Given the description of an element on the screen output the (x, y) to click on. 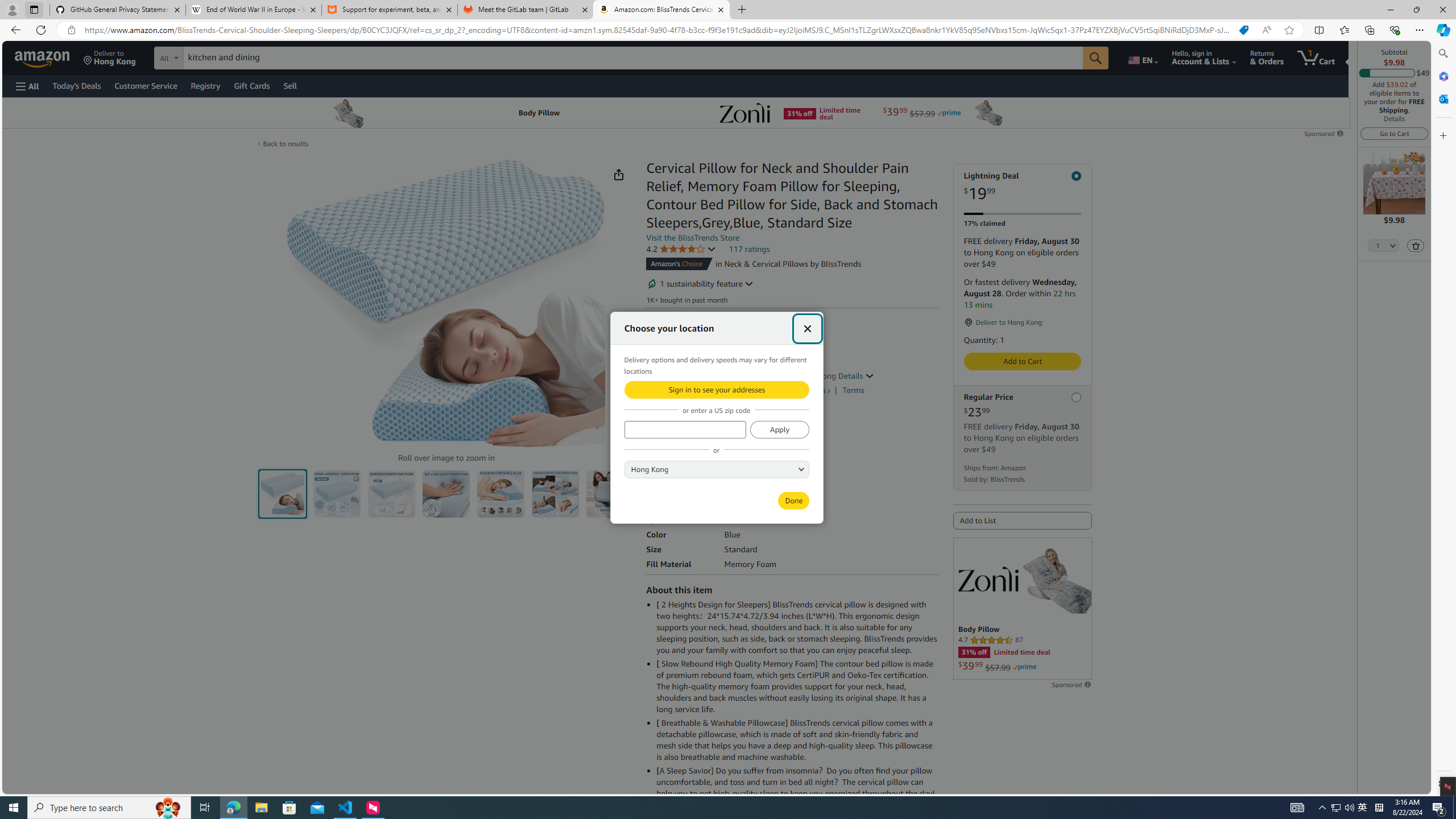
Amazon (43, 57)
Back to results (285, 144)
Open Menu (26, 86)
4.2 4.2 out of 5 stars (681, 248)
Back to results (285, 143)
GitHub General Privacy Statement - GitHub Docs (117, 9)
Add to Cart (1021, 360)
King (756, 479)
Standard (670, 479)
Go to Cart (1393, 133)
